Given the description of an element on the screen output the (x, y) to click on. 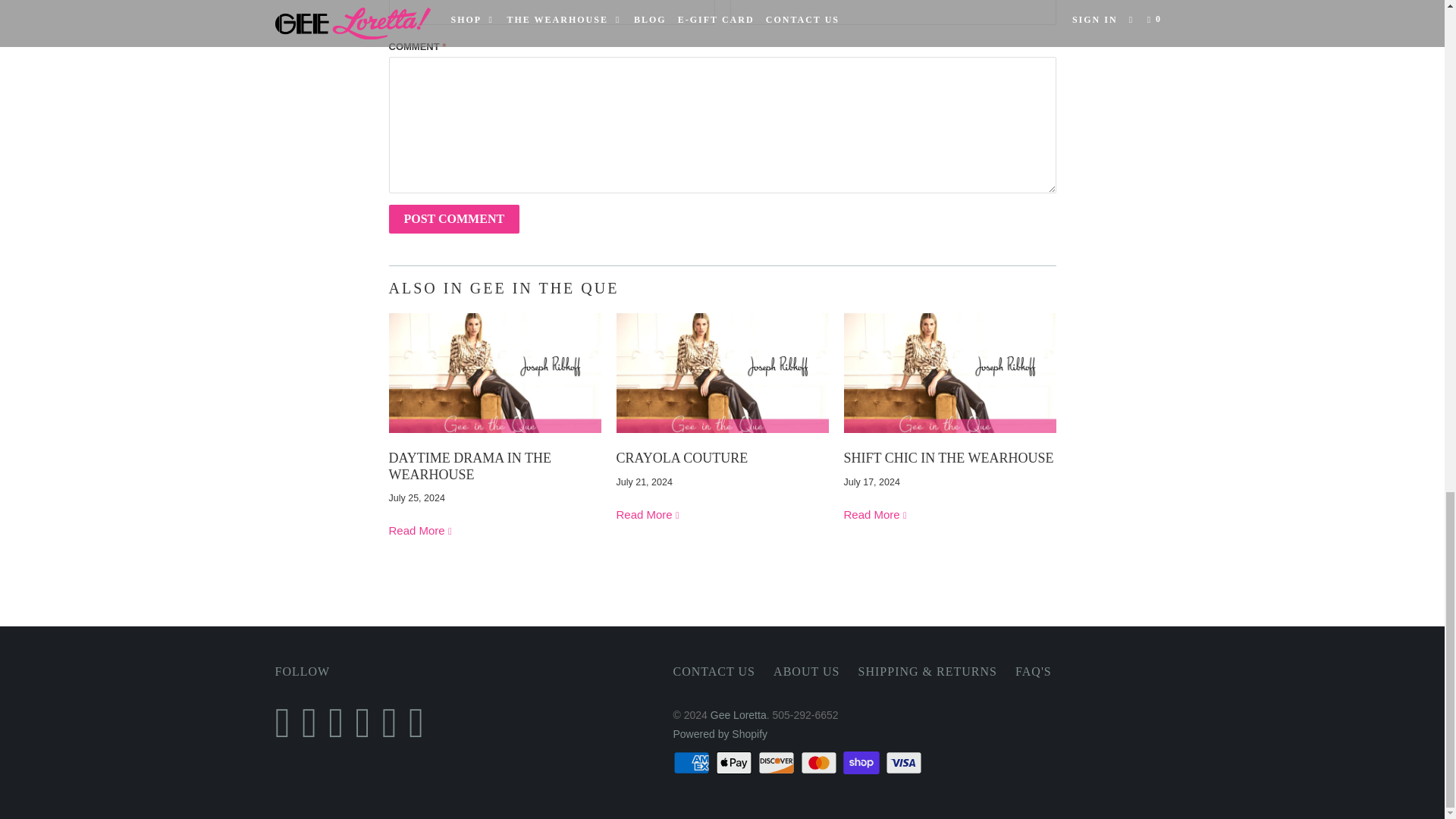
Daytime Drama in the WearHouse (469, 466)
Crayola Couture (681, 458)
Crayola Couture (647, 513)
Shift Chic in the WearHouse (947, 458)
Shift Chic in the WearHouse (949, 436)
Post comment (453, 218)
Crayola Couture (721, 436)
Shift Chic in the WearHouse (875, 513)
Daytime Drama in the WearHouse (420, 530)
Daytime Drama in the WearHouse (493, 436)
